Given the description of an element on the screen output the (x, y) to click on. 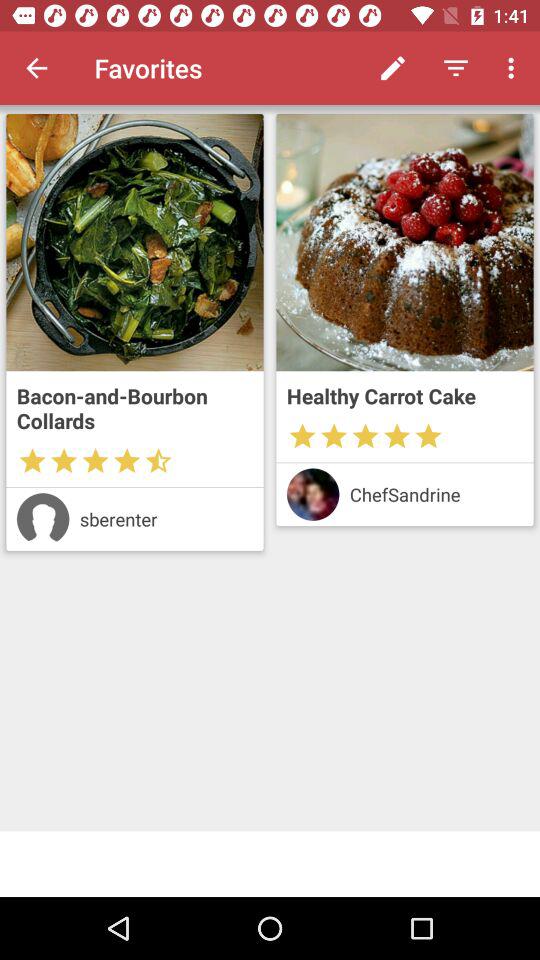
flip until the healthy carrot cake item (404, 395)
